Given the description of an element on the screen output the (x, y) to click on. 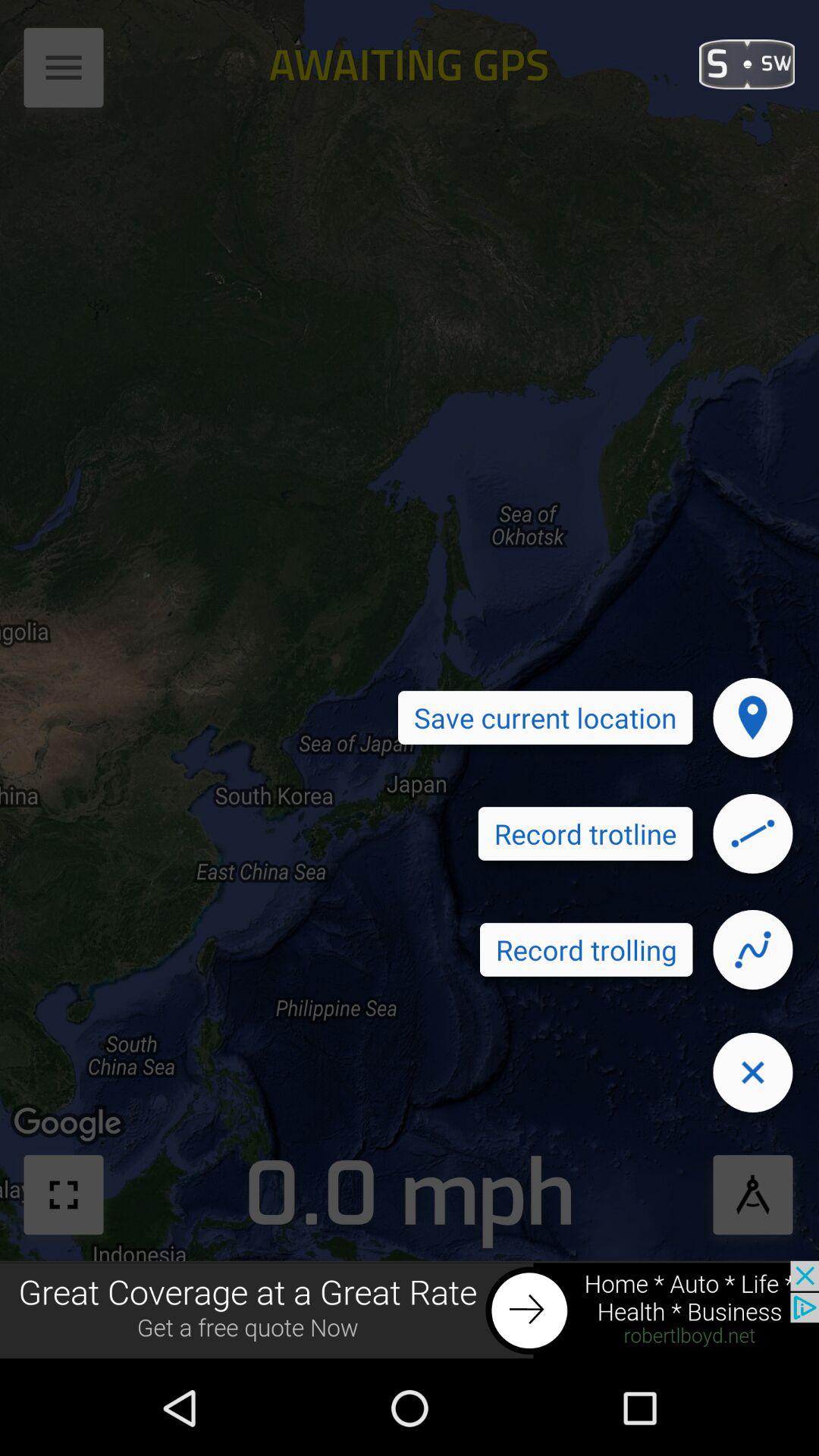
for record trolling (752, 949)
